Given the description of an element on the screen output the (x, y) to click on. 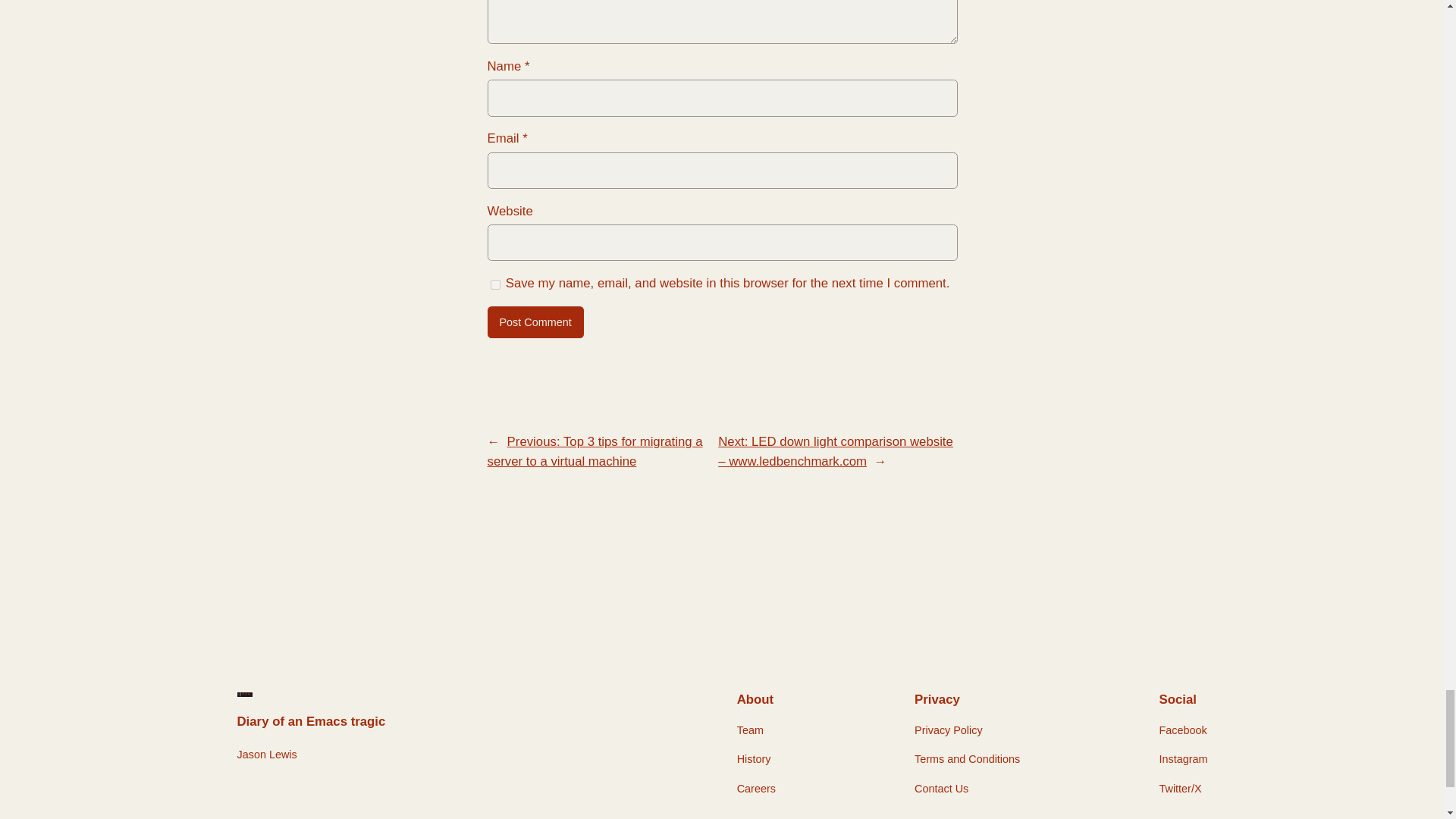
Post Comment (534, 322)
